Given the description of an element on the screen output the (x, y) to click on. 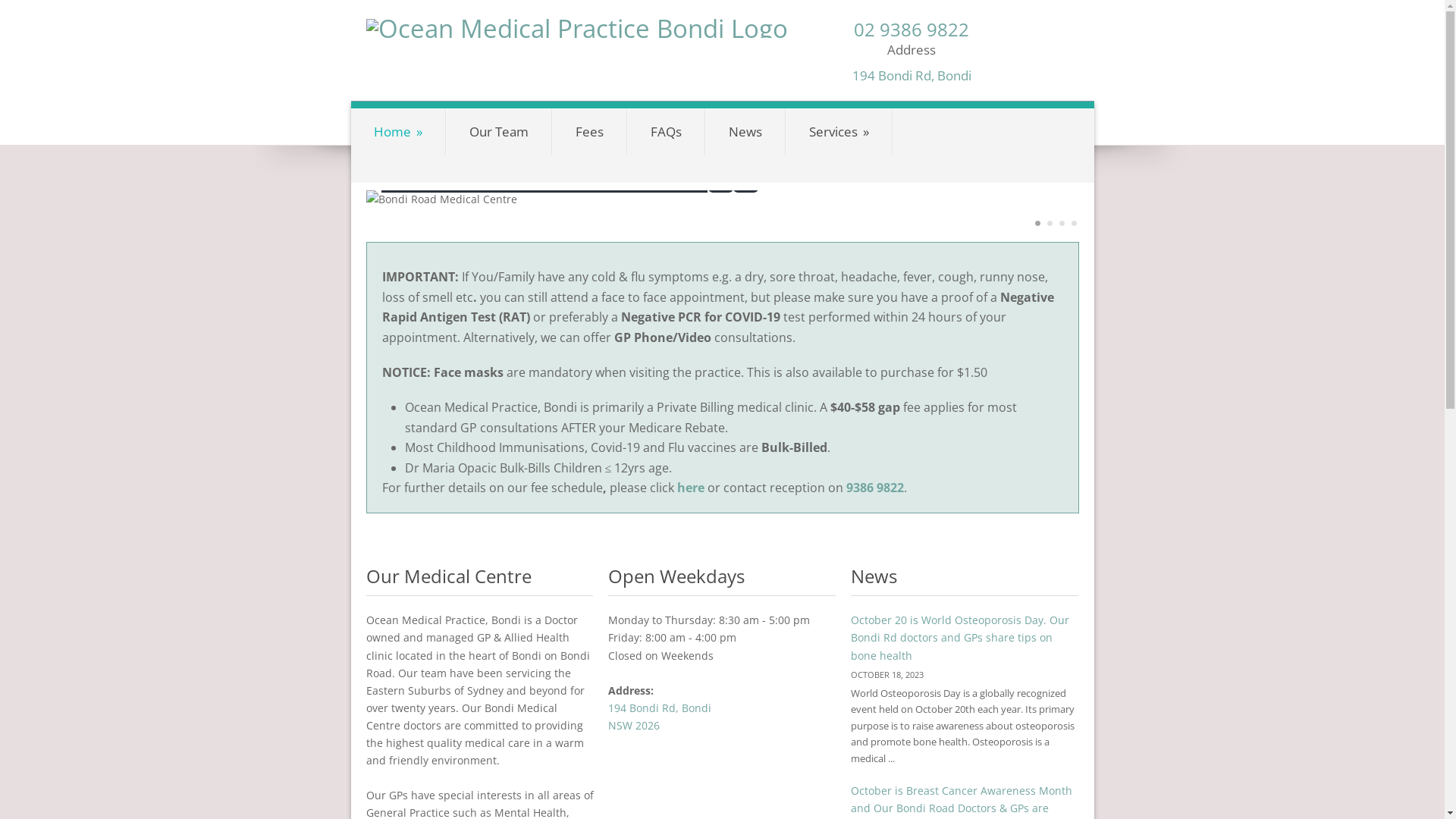
3 Element type: text (1061, 223)
Next Element type: text (744, 180)
4 Element type: text (1074, 223)
Careers Element type: text (1051, 153)
Our Team Element type: text (497, 131)
BOOK ONLINE NOW Element type: text (1009, 116)
2 Element type: text (1049, 223)
9386 9822 Element type: text (874, 487)
Contact Us Element type: text (972, 153)
here Element type: text (689, 487)
News Element type: text (744, 131)
194 Bondi Rd, Bondi Element type: text (911, 75)
1 Element type: text (1037, 223)
Previous Element type: text (720, 180)
FAQs Element type: text (665, 131)
BOOK ONLINE NOW Element type: text (1009, 117)
194 Bondi Rd, Bondi
NSW 2026 Element type: text (659, 716)
02 9386 9822 Element type: text (911, 28)
Fees Element type: text (588, 131)
